Given the description of an element on the screen output the (x, y) to click on. 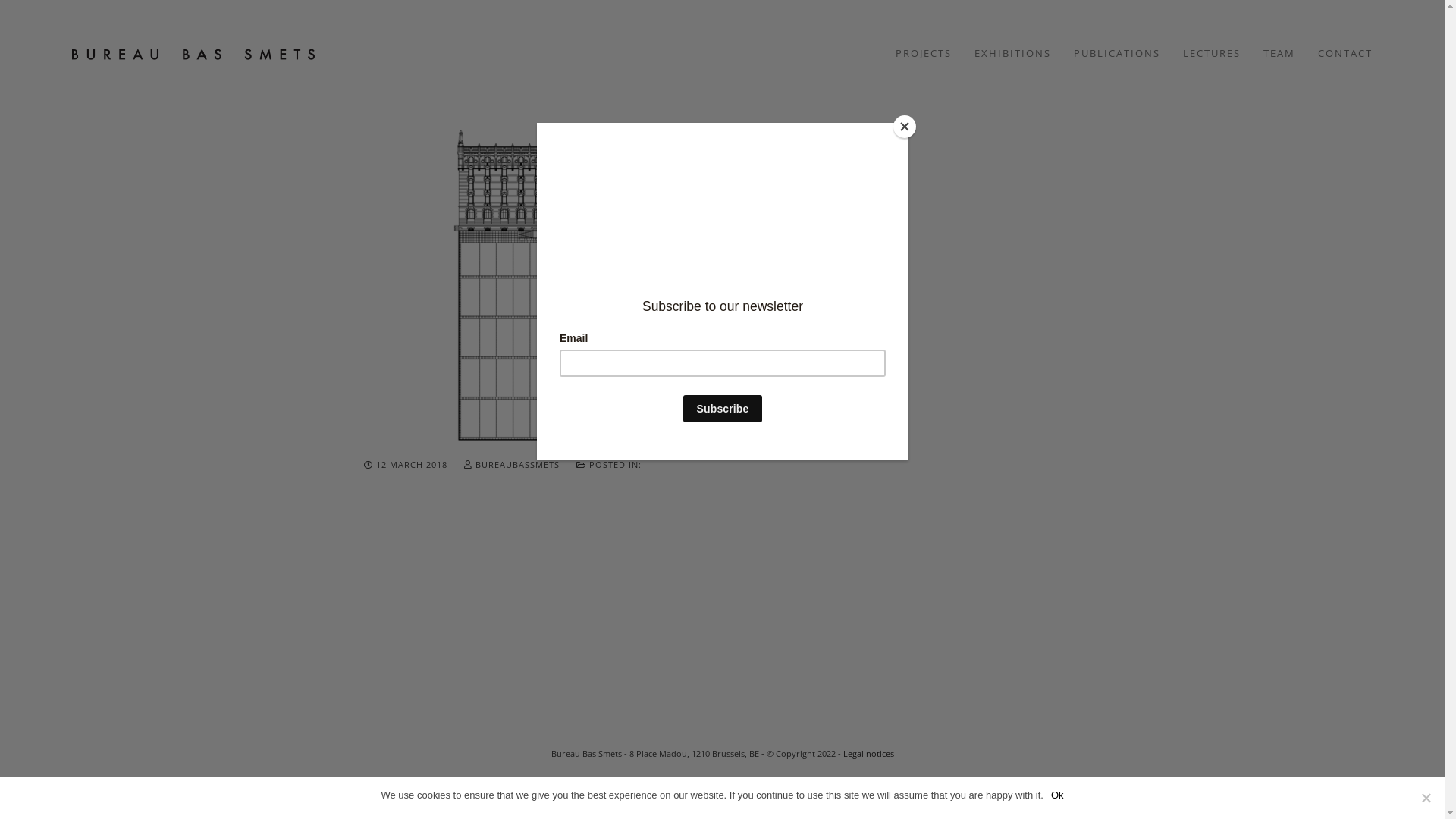
TEAM Element type: text (1279, 53)
Legal notices Element type: text (868, 753)
CONTACT Element type: text (1344, 53)
BUREAUBASSMETS Element type: text (513, 464)
EXHIBITIONS Element type: text (1012, 53)
No Element type: hover (1425, 797)
PUBLICATIONS Element type: text (1116, 53)
PROJECTS Element type: text (923, 53)
LECTURES Element type: text (1211, 53)
Bureau Bas Smets Element type: hover (193, 53)
Ok Element type: text (1057, 795)
